Given the description of an element on the screen output the (x, y) to click on. 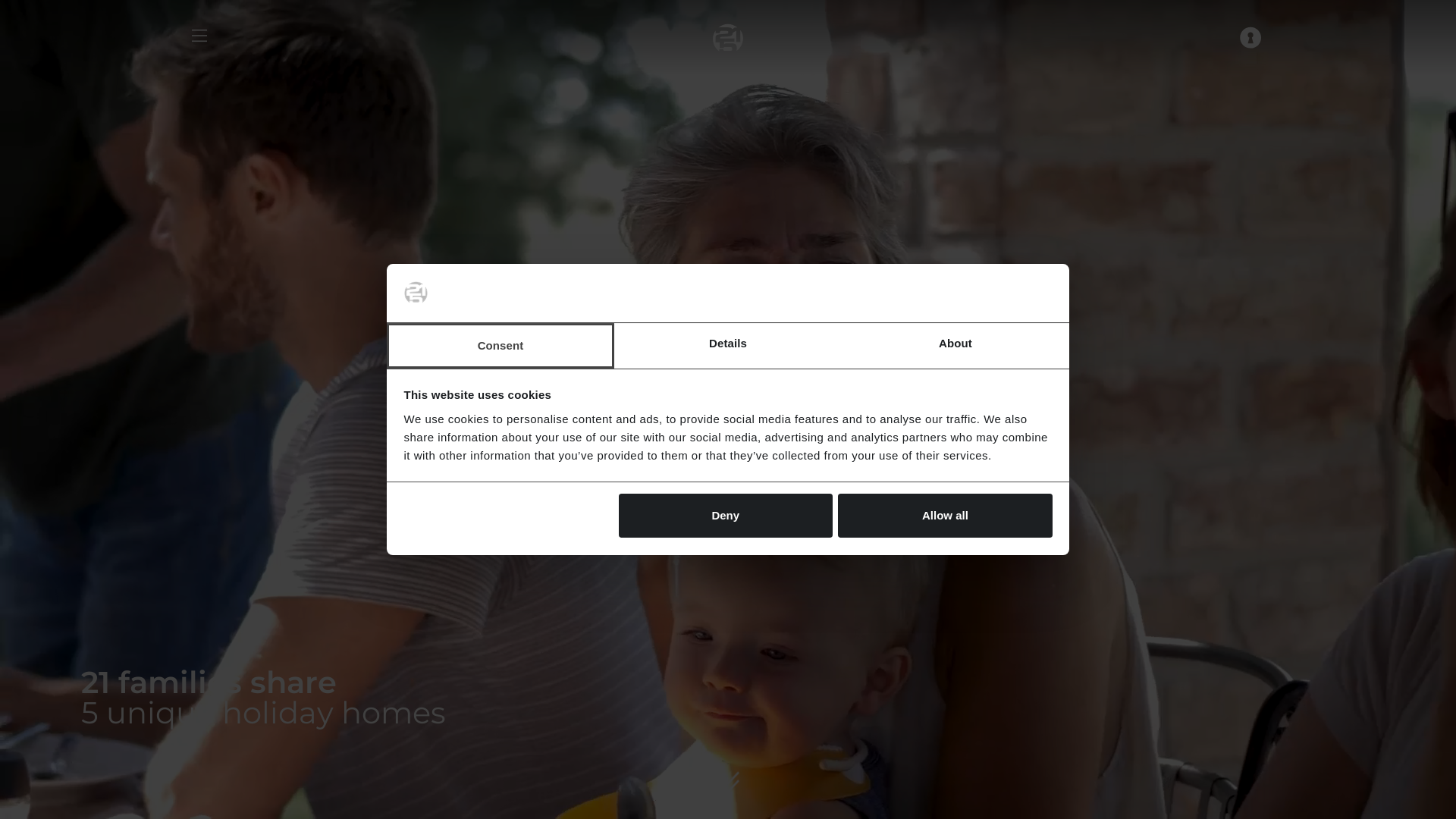
Details Element type: text (727, 345)
Consent Element type: text (500, 345)
Allow all Element type: text (944, 515)
About Element type: text (955, 345)
Deny Element type: text (725, 515)
